Given the description of an element on the screen output the (x, y) to click on. 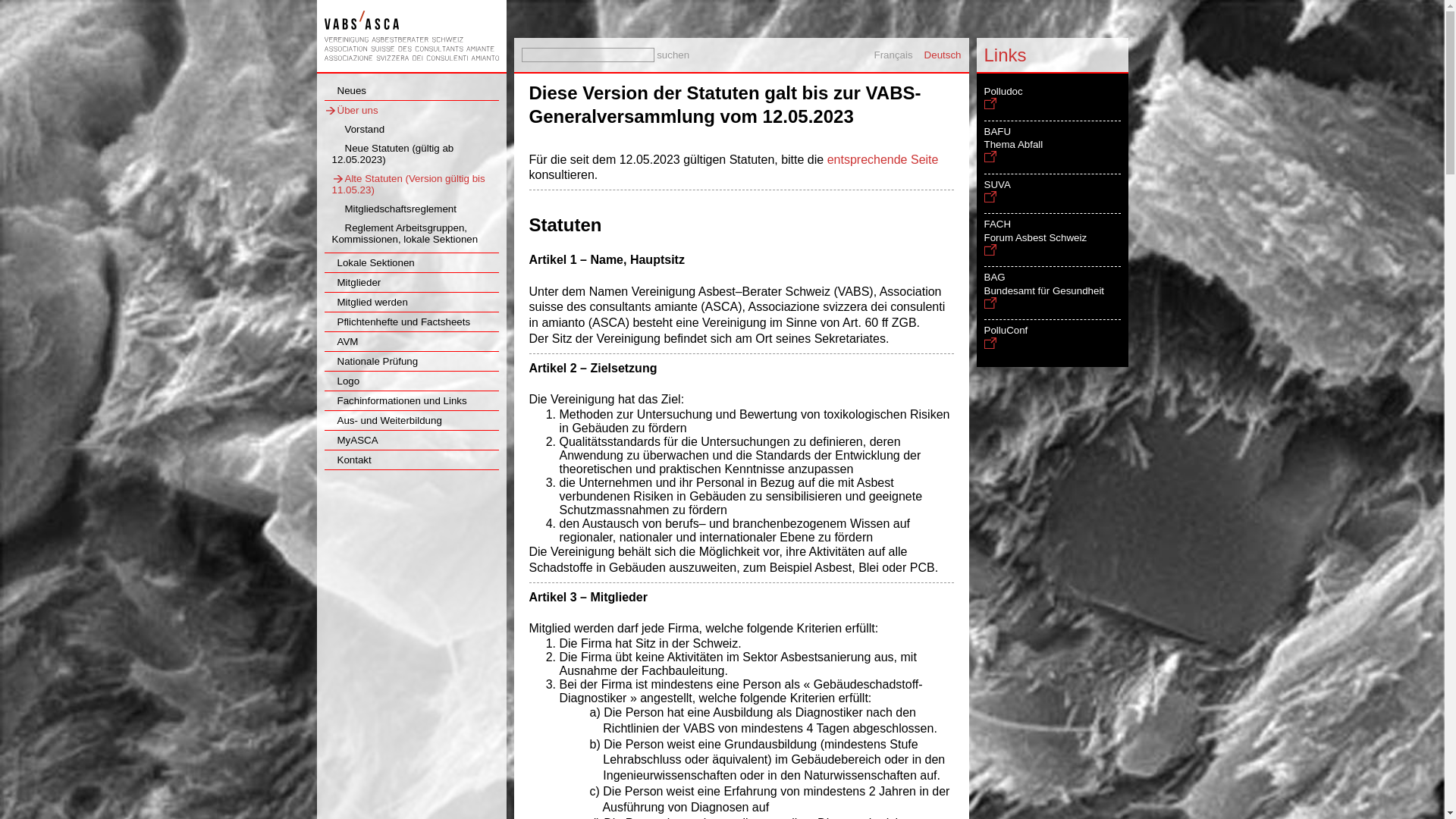
Logo Element type: text (342, 380)
Mitglied werden Element type: text (365, 301)
Pflichtenhefte und Factsheets Element type: text (397, 321)
Aus- und Weiterbildung Element type: text (383, 420)
entsprechende Seite Element type: text (882, 159)
Mitgliedschaftsreglement Element type: text (394, 208)
suchen Element type: text (672, 53)
Deutsch Element type: text (942, 53)
MyASCA Element type: text (351, 439)
suchen Element type: text (21, 7)
Vorstand Element type: text (358, 128)
AVM Element type: text (341, 341)
Mitglieder Element type: text (352, 282)
Reglement Arbeitsgruppen, Kommissionen, lokale Sektionen Element type: text (405, 233)
Fachinformationen und Links Element type: text (395, 400)
Neues Element type: text (345, 90)
Lokale Sektionen Element type: text (369, 262)
Kontakt Element type: text (347, 459)
